Given the description of an element on the screen output the (x, y) to click on. 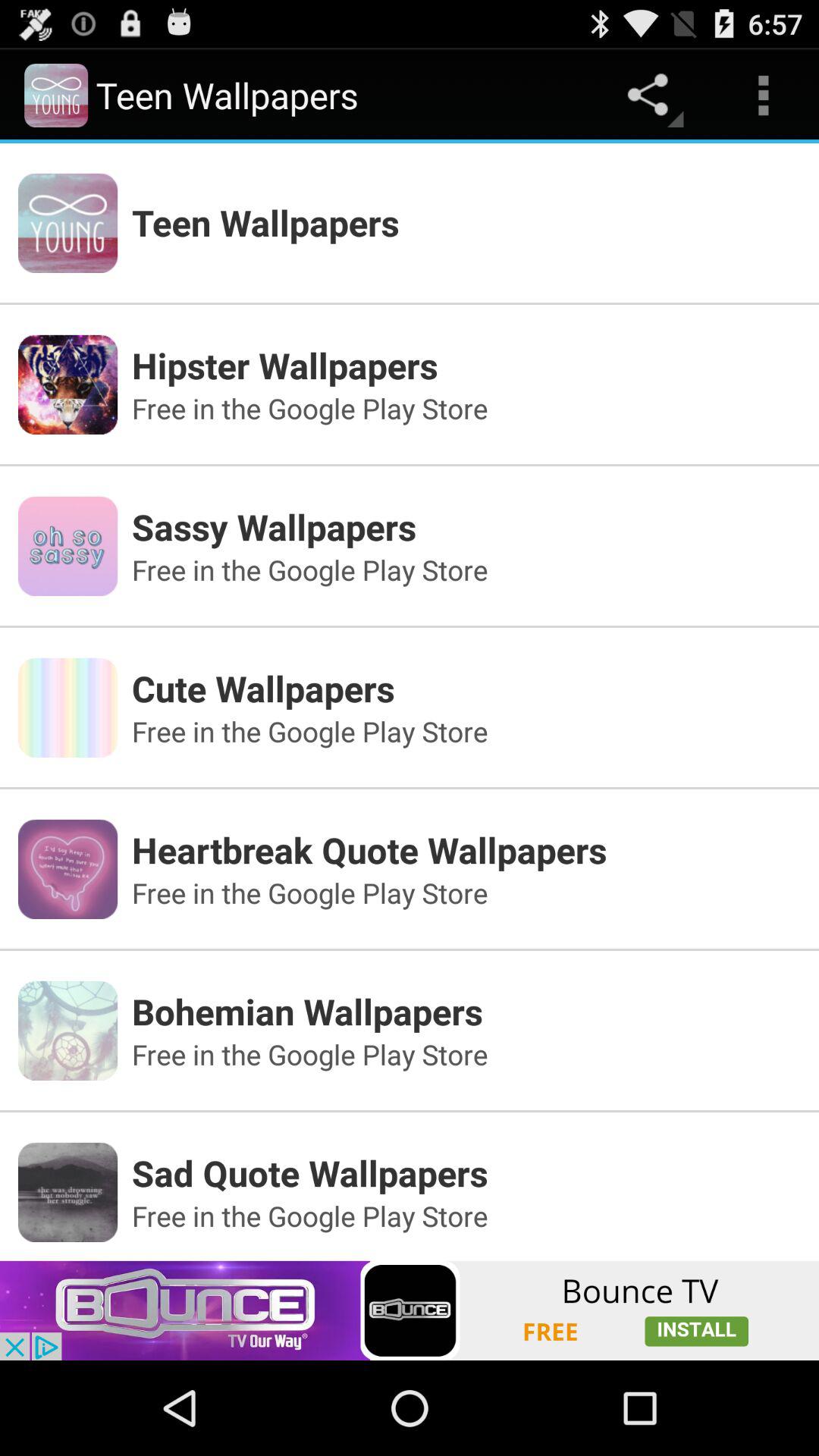
open advertisement (409, 1310)
